Given the description of an element on the screen output the (x, y) to click on. 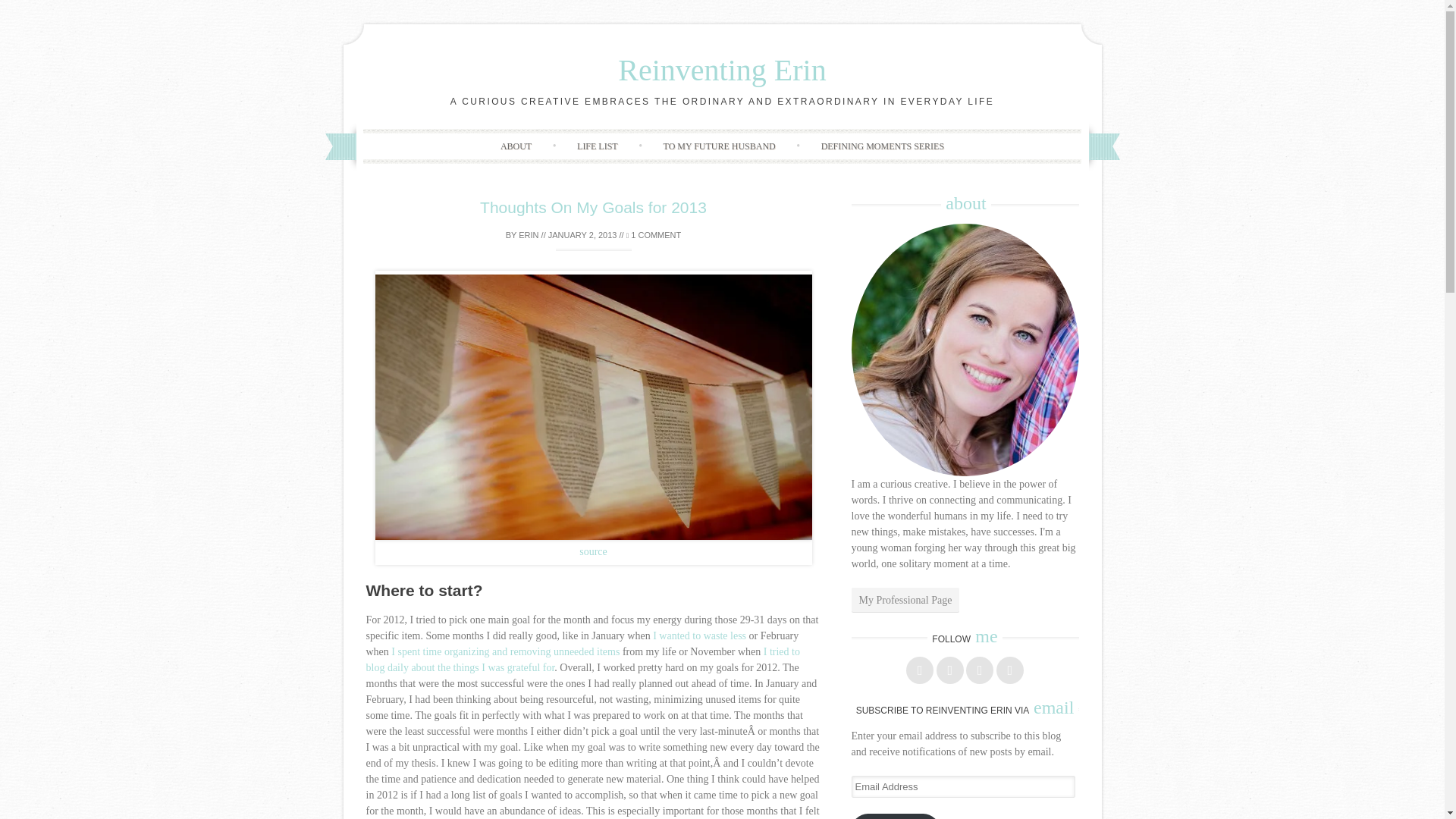
TO MY FUTURE HUSBAND (719, 145)
12 Resolutions: Reviewing February and Introducing March (507, 651)
Thoughts On My Goals for 2013 (593, 207)
source (593, 551)
ERIN (528, 234)
DEFINING MOMENTS SERIES (882, 145)
Reinventing Erin (721, 69)
I spent time organizing and removing unneeded items (507, 651)
LIFE LIST (597, 145)
My Professional Page (904, 600)
6:51 am (582, 234)
resolve (700, 635)
View all posts by erin (528, 234)
JANUARY 2, 2013 (582, 234)
